Given the description of an element on the screen output the (x, y) to click on. 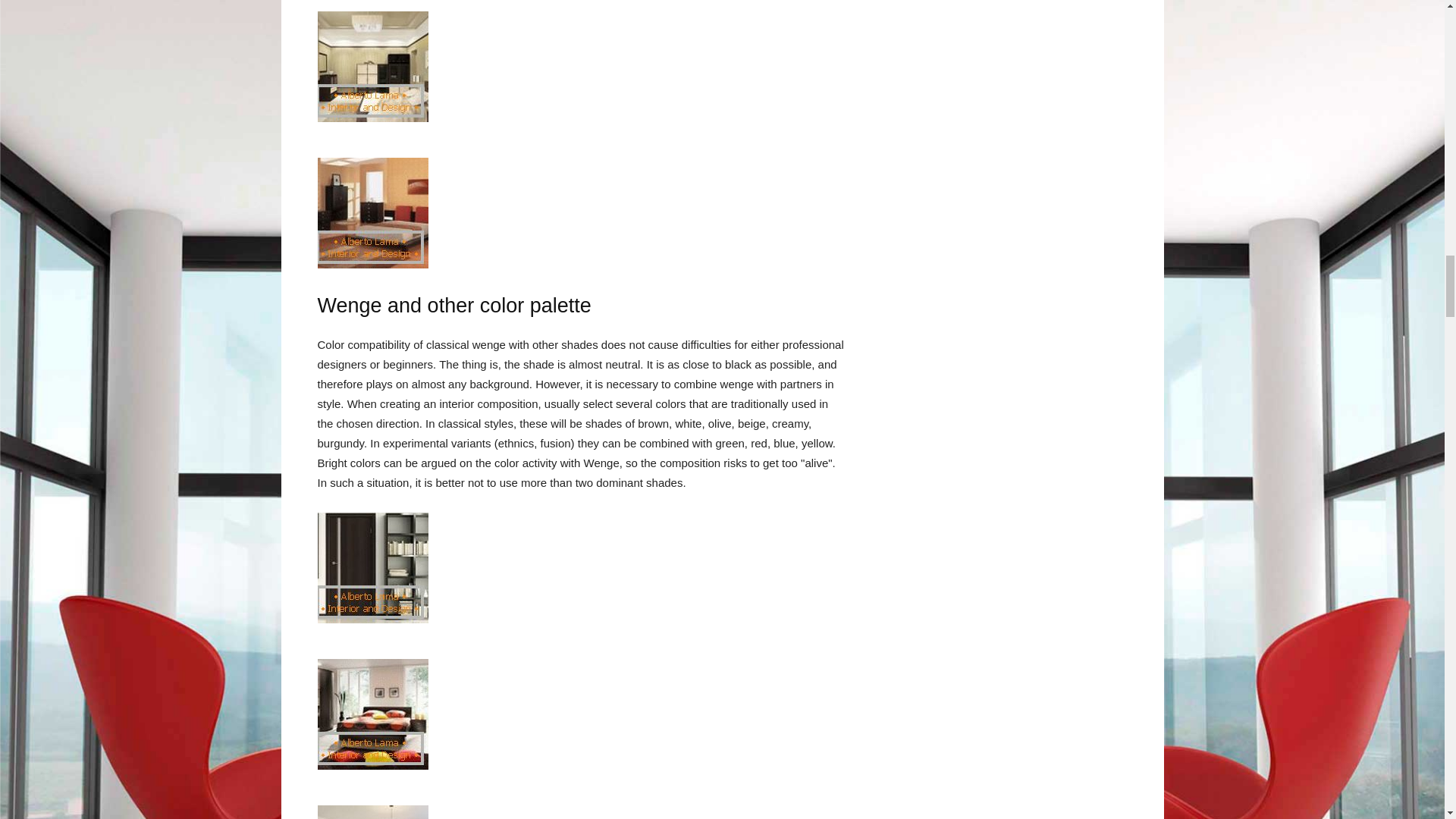
Wenge combination with light color in the interior (372, 567)
Bright cushions on the carpet in the bedroom (372, 714)
Rug by the bed (372, 213)
Photo framed over comodom (372, 812)
Mirror over the dresser in the bedroom (372, 66)
